Given the description of an element on the screen output the (x, y) to click on. 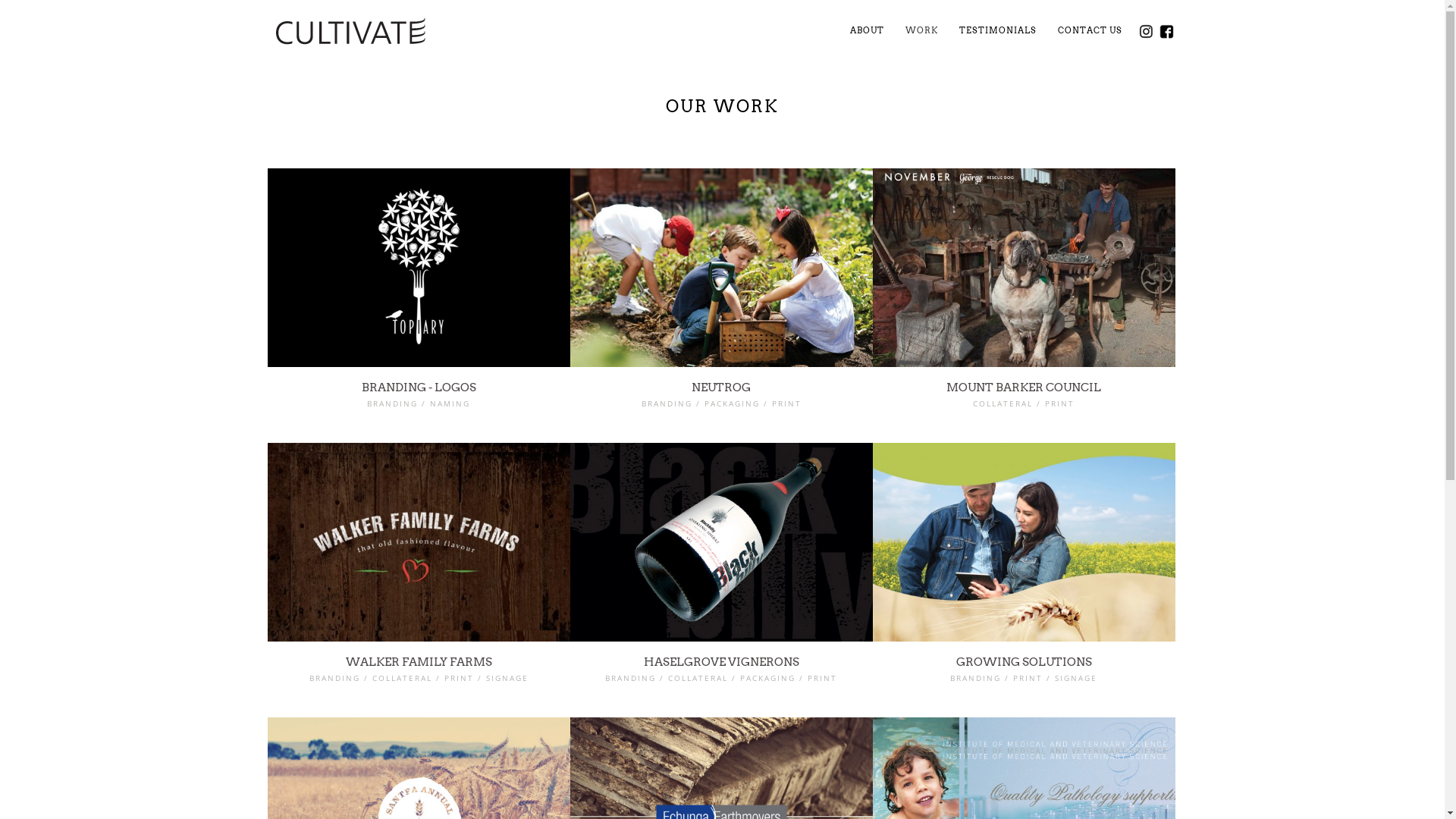
ABOUT Element type: text (866, 30)
NEUTROG
BRANDING / PACKAGING / PRINT Element type: text (721, 305)
BRANDING - LOGOS
BRANDING / NAMING Element type: text (417, 305)
CONTACT US Element type: text (1089, 30)
Instagram Element type: hover (1144, 30)
MOUNT BARKER COUNCIL
COLLATERAL / PRINT Element type: text (1023, 305)
GROWING SOLUTIONS
BRANDING / PRINT / SIGNAGE Element type: text (1023, 579)
WORK Element type: text (921, 30)
TESTIMONIALS Element type: text (996, 30)
Facebook Element type: hover (1166, 30)
WALKER FAMILY FARMS
BRANDING / COLLATERAL / PRINT / SIGNAGE Element type: text (417, 579)
